Given the description of an element on the screen output the (x, y) to click on. 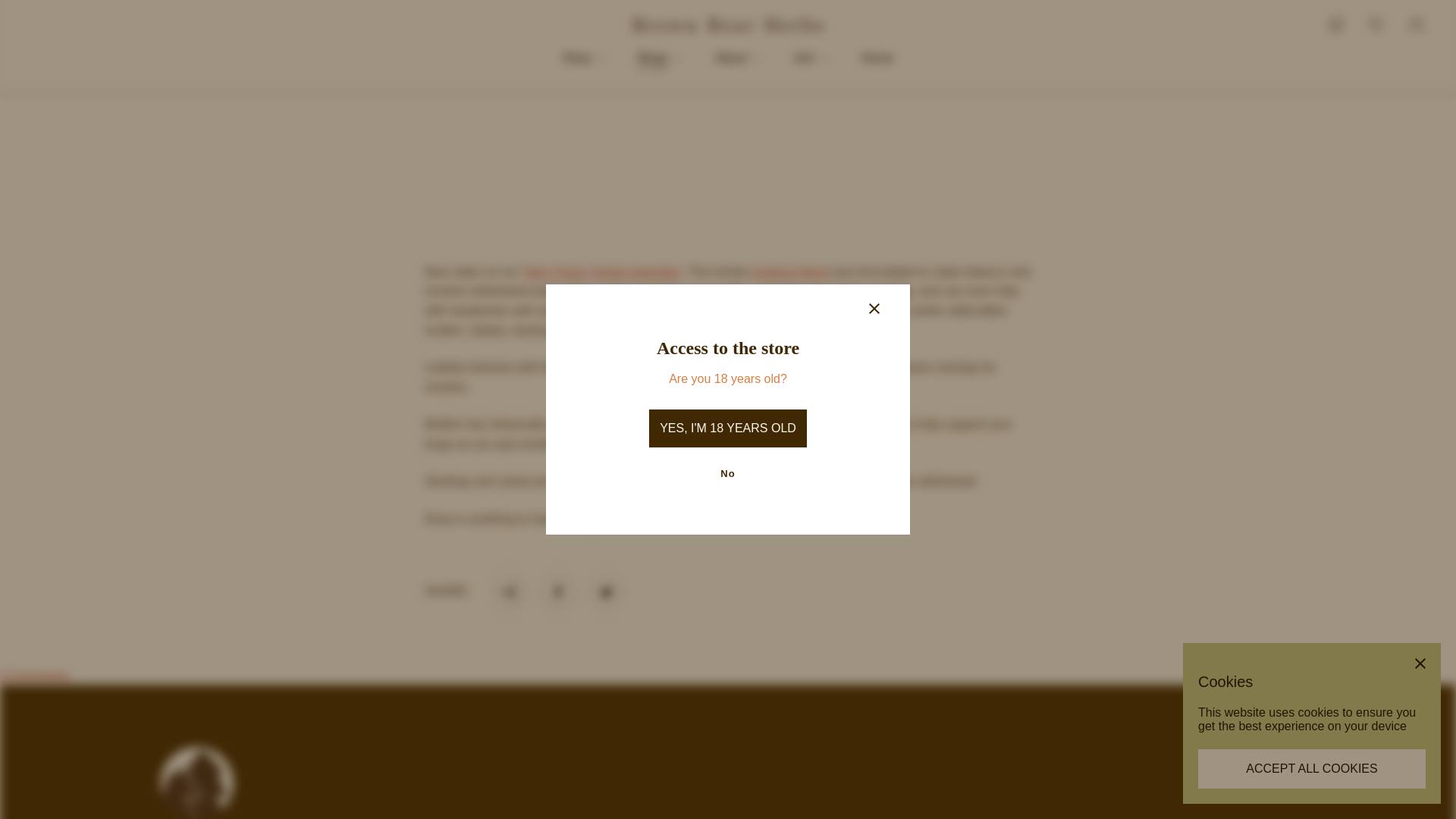
YouTube video player (636, 109)
